Given the description of an element on the screen output the (x, y) to click on. 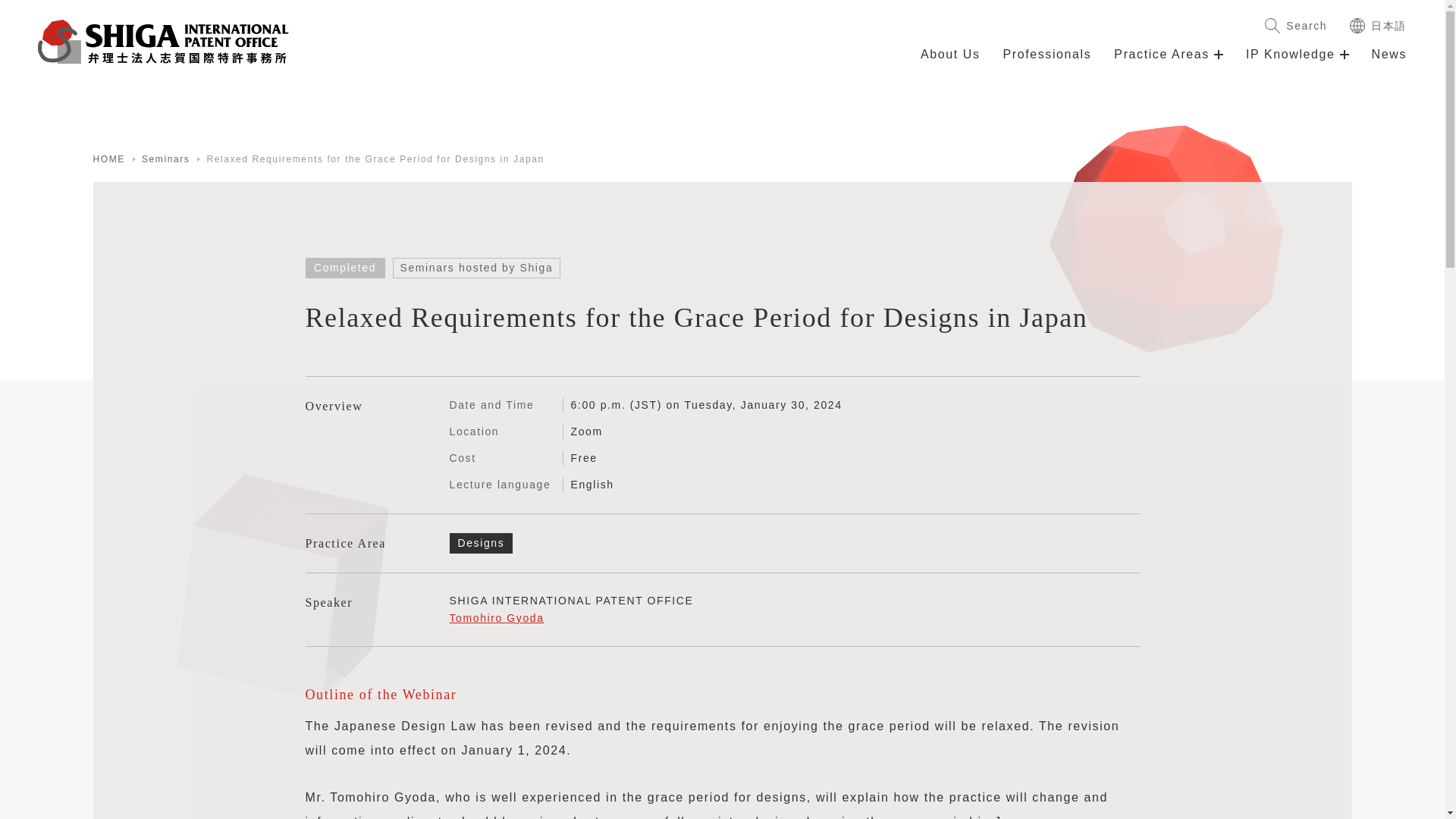
IP Knowledge (1297, 64)
Professionals (1046, 64)
Tomohiro Gyoda (495, 617)
Seminars (165, 158)
News (1388, 64)
Search (1295, 25)
Practice Areas (1168, 64)
HOME (108, 158)
Designs (480, 543)
About Us (949, 64)
